Given the description of an element on the screen output the (x, y) to click on. 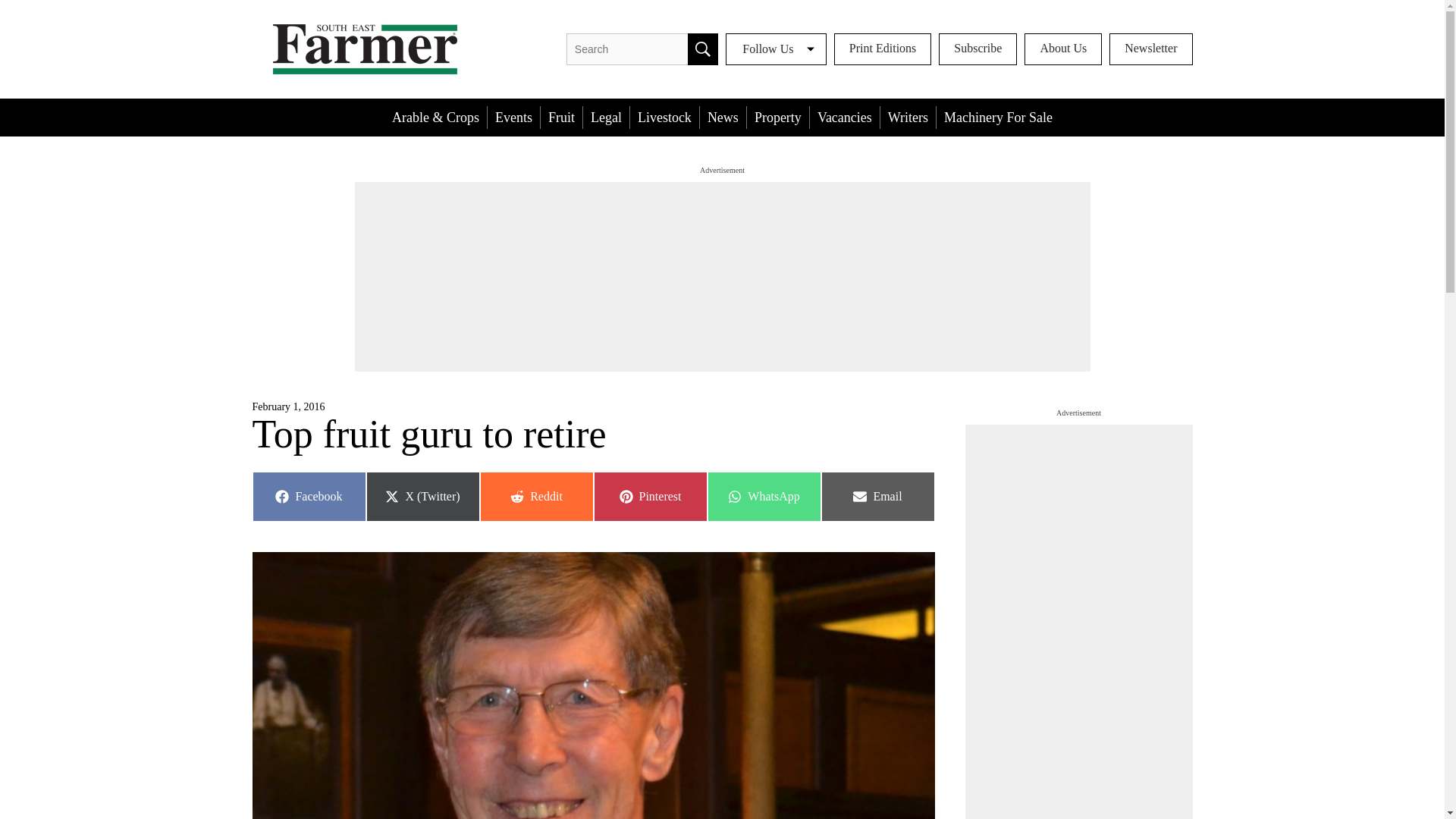
Legal (535, 496)
Vacancies (308, 496)
Search (605, 117)
Subscribe (844, 117)
Livestock (702, 49)
Property (977, 49)
Events (664, 117)
Fruit (777, 117)
